Given the description of an element on the screen output the (x, y) to click on. 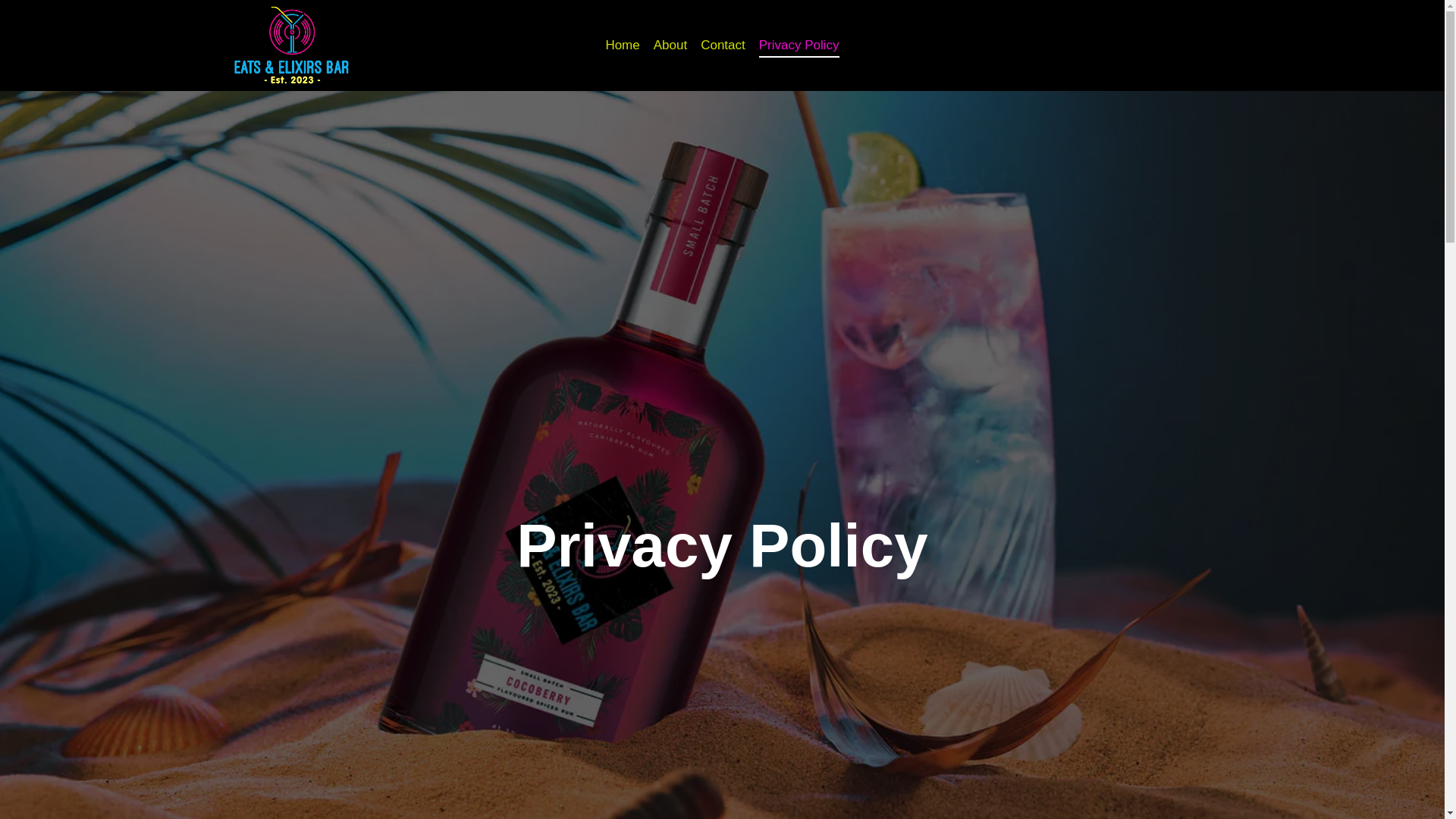
Privacy Policy (798, 45)
Contact (723, 45)
Home (622, 45)
Skip to content (15, 7)
About (670, 45)
